Given the description of an element on the screen output the (x, y) to click on. 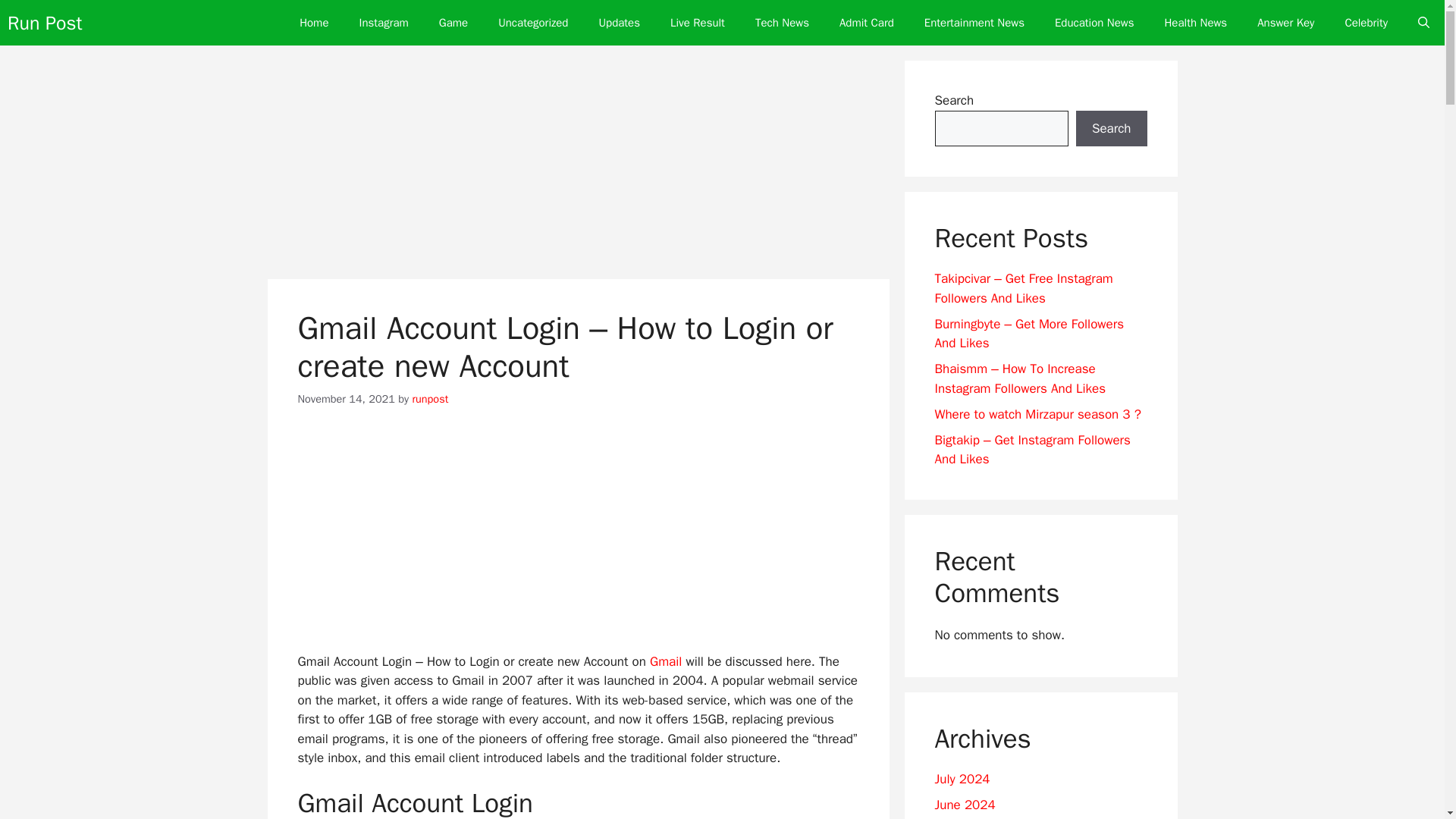
Celebrity (1366, 22)
Education News (1094, 22)
Uncategorized (533, 22)
Gmail (665, 661)
Health News (1194, 22)
Admit Card (866, 22)
July 2024 (962, 779)
Where to watch Mirzapur season 3 ? (1037, 414)
Game (453, 22)
Tech News (781, 22)
Run Post (44, 23)
View all posts by runpost (430, 398)
Instagram (383, 22)
Live Result (697, 22)
